Given the description of an element on the screen output the (x, y) to click on. 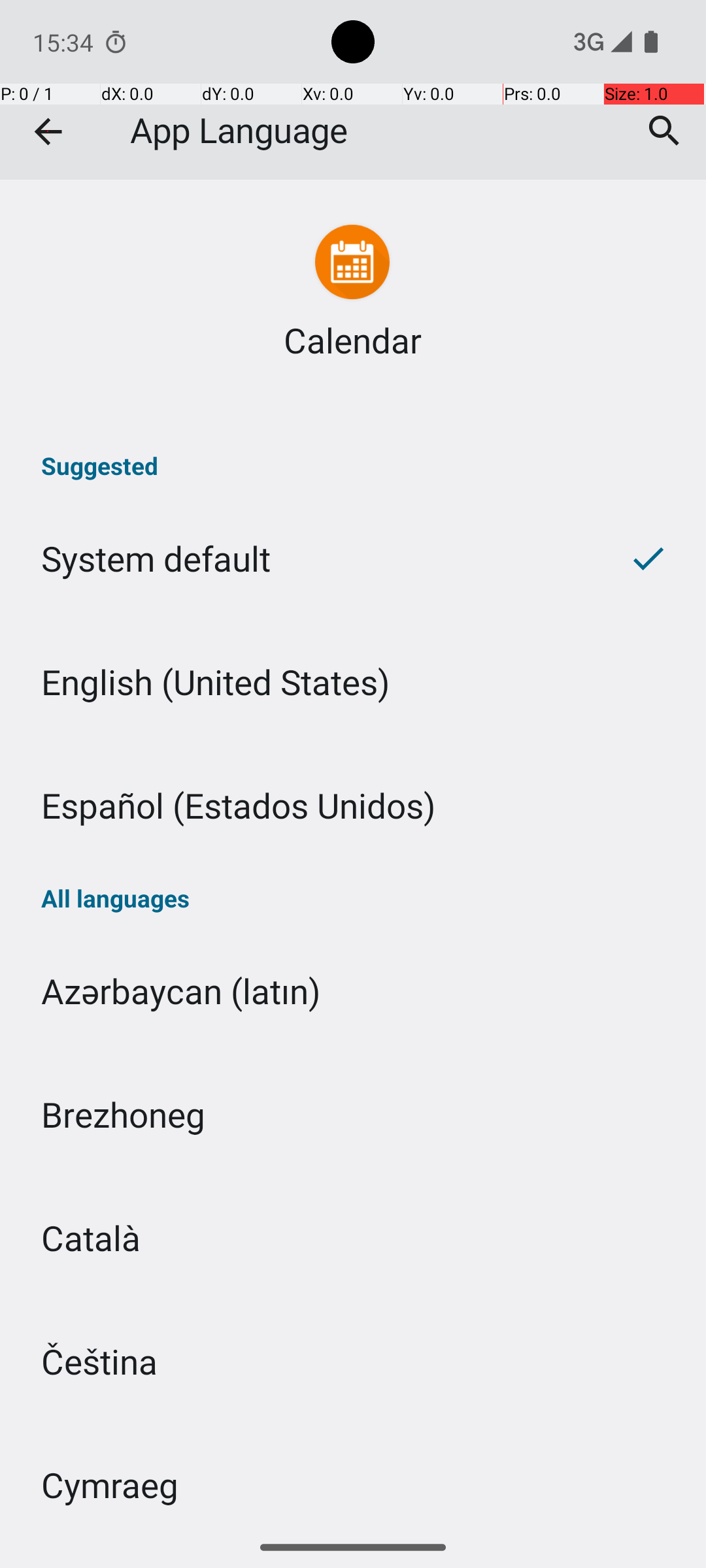
Cymraeg Element type: android.widget.TextView (353, 1474)
